Given the description of an element on the screen output the (x, y) to click on. 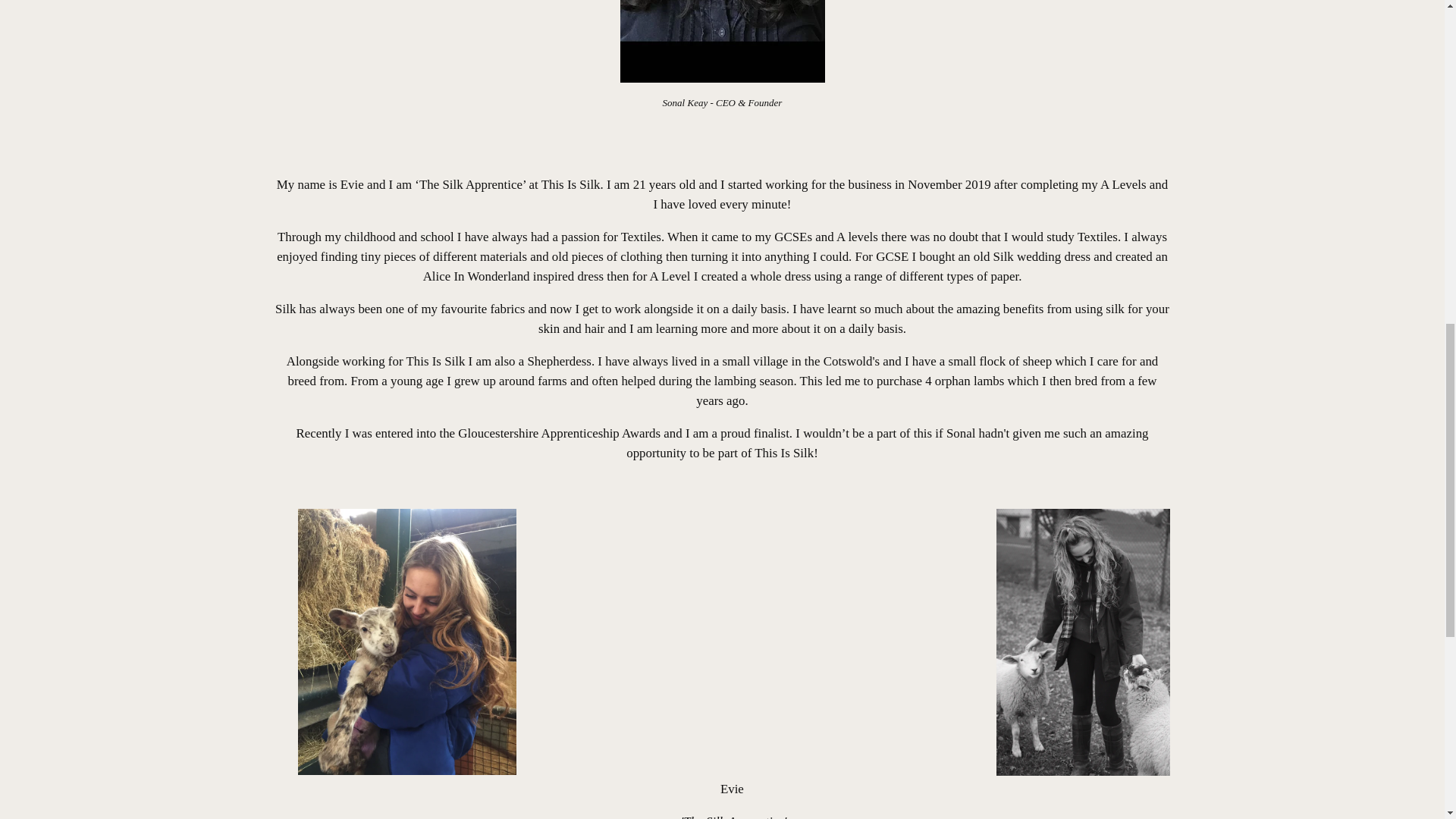
BR (1290, 22)
BN (1290, 127)
KH (1290, 236)
VG (1290, 94)
BW (1290, 4)
BF (1290, 182)
BI (1290, 209)
IO (1290, 55)
CV (1290, 318)
CM (1290, 264)
BG (1290, 154)
CA (1290, 291)
